Given the description of an element on the screen output the (x, y) to click on. 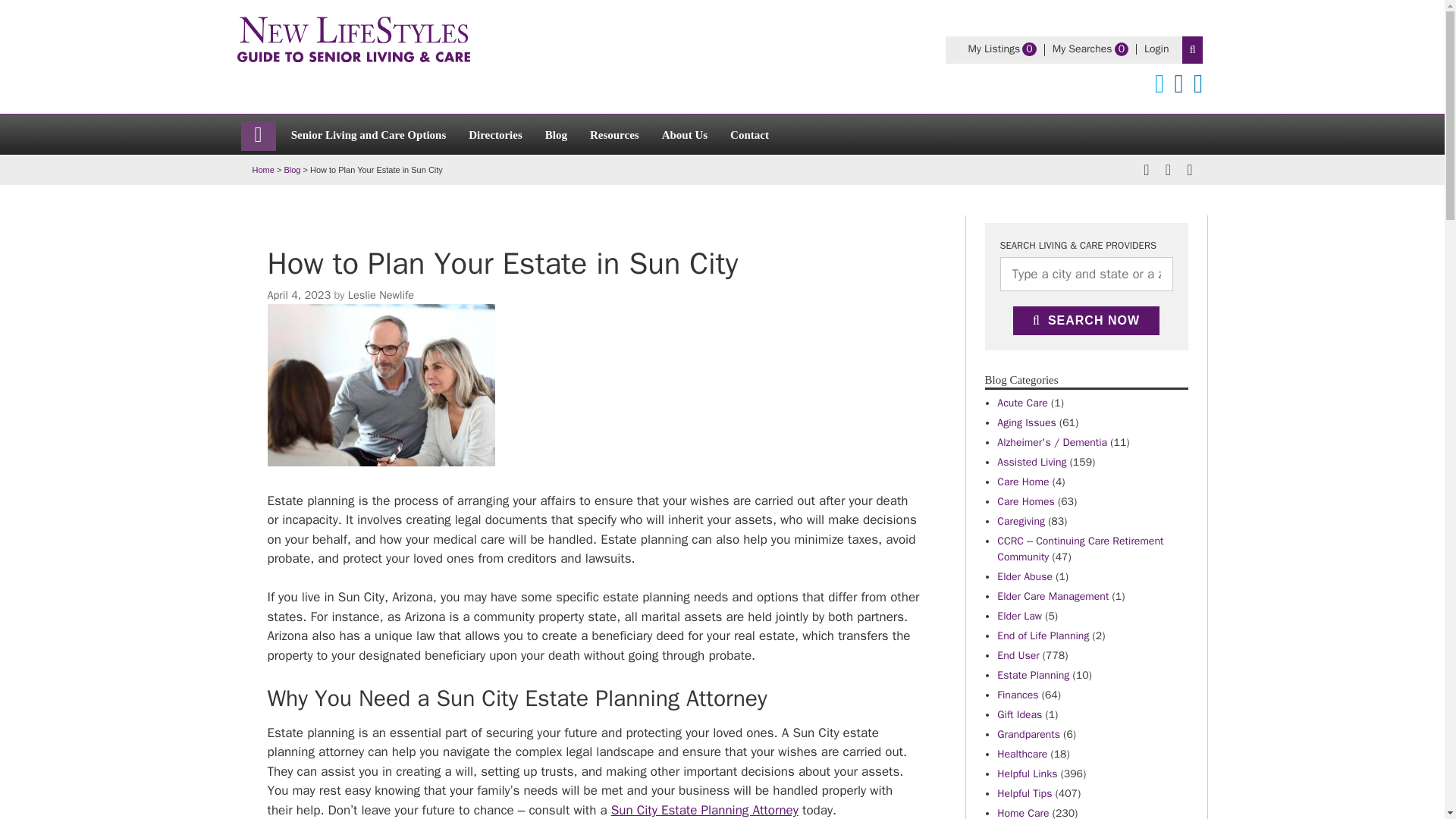
10:21 am (298, 295)
Skip to content (1082, 48)
View all posts by Leslie Newlife (1156, 48)
Blog (380, 295)
Senior Living and Care Options (556, 133)
Resources (368, 133)
nls-logo (614, 133)
Blog (351, 39)
About Us (291, 169)
Directories (683, 133)
Contact (495, 133)
Home (749, 133)
